Given the description of an element on the screen output the (x, y) to click on. 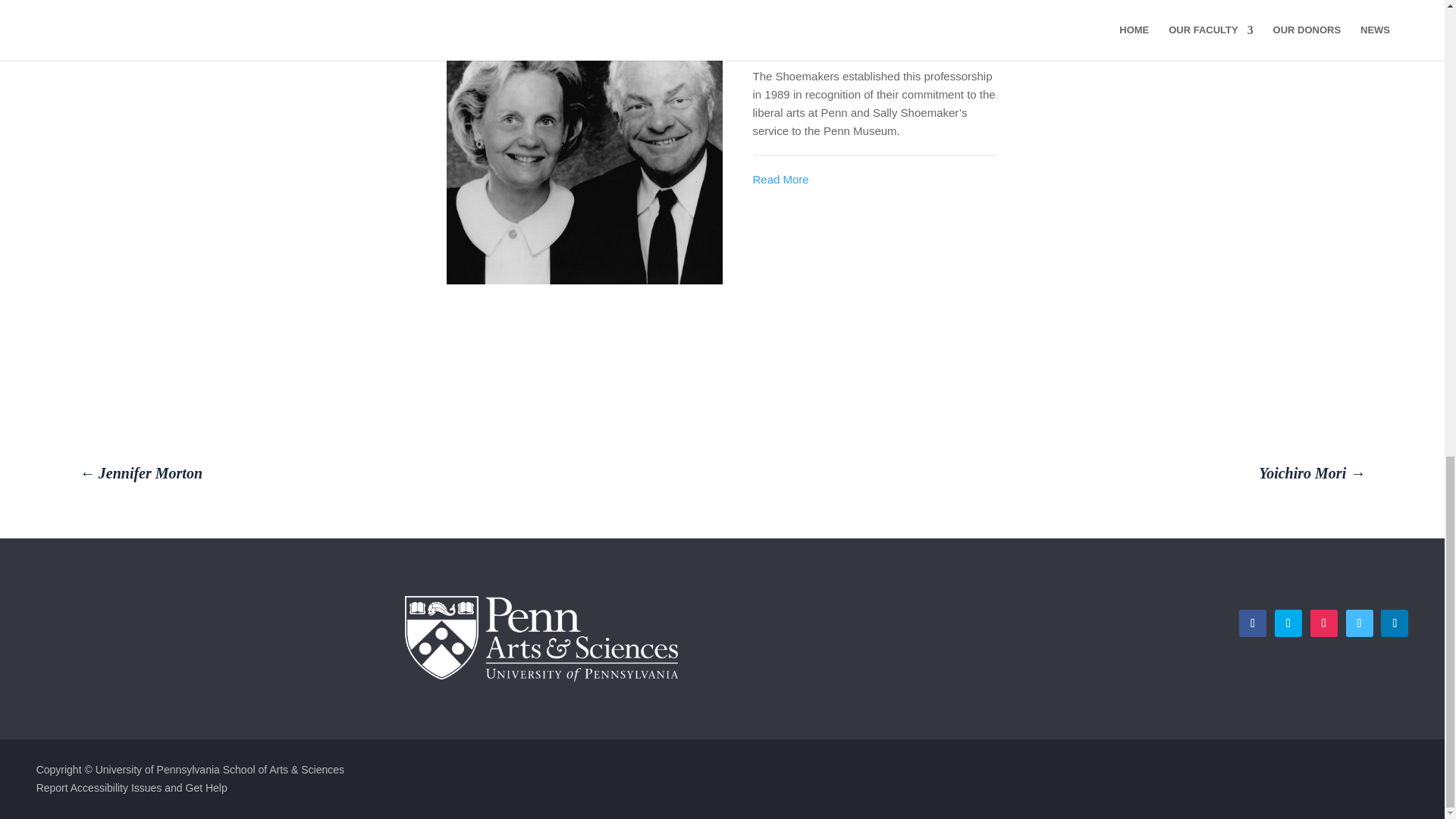
Follow on Twitter (1288, 623)
Read More (780, 179)
Follow on Facebook (1252, 623)
Follow on LinkedIn (1393, 623)
Follow on Vimeo (1359, 623)
Report Accessibility Issues and Get Help (131, 787)
Follow on Instagram (1324, 623)
